Given the description of an element on the screen output the (x, y) to click on. 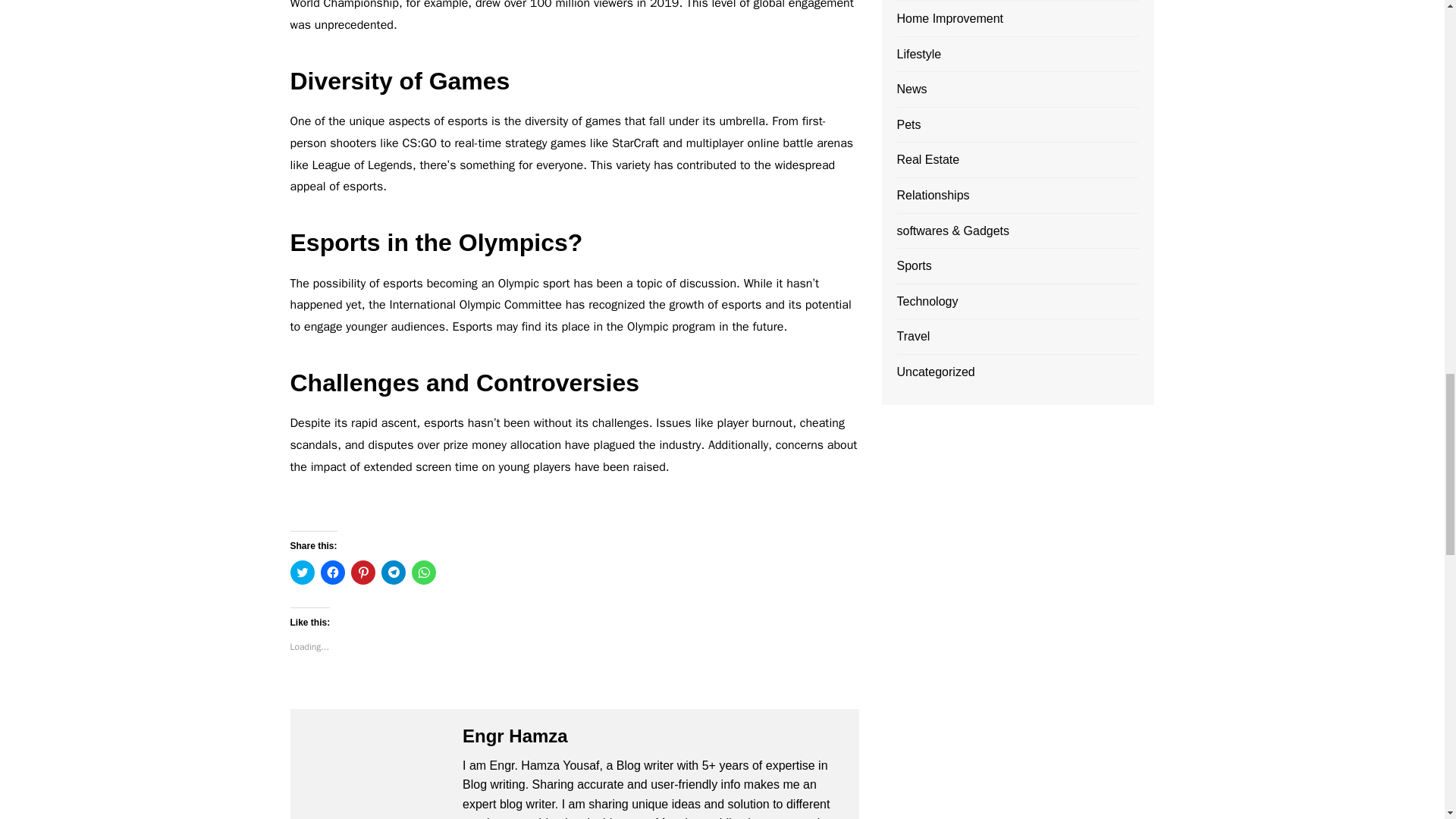
Click to share on Facebook (331, 572)
Click to share on Telegram (392, 572)
Click to share on WhatsApp (422, 572)
Click to share on Twitter (301, 572)
Click to share on Pinterest (362, 572)
